Given the description of an element on the screen output the (x, y) to click on. 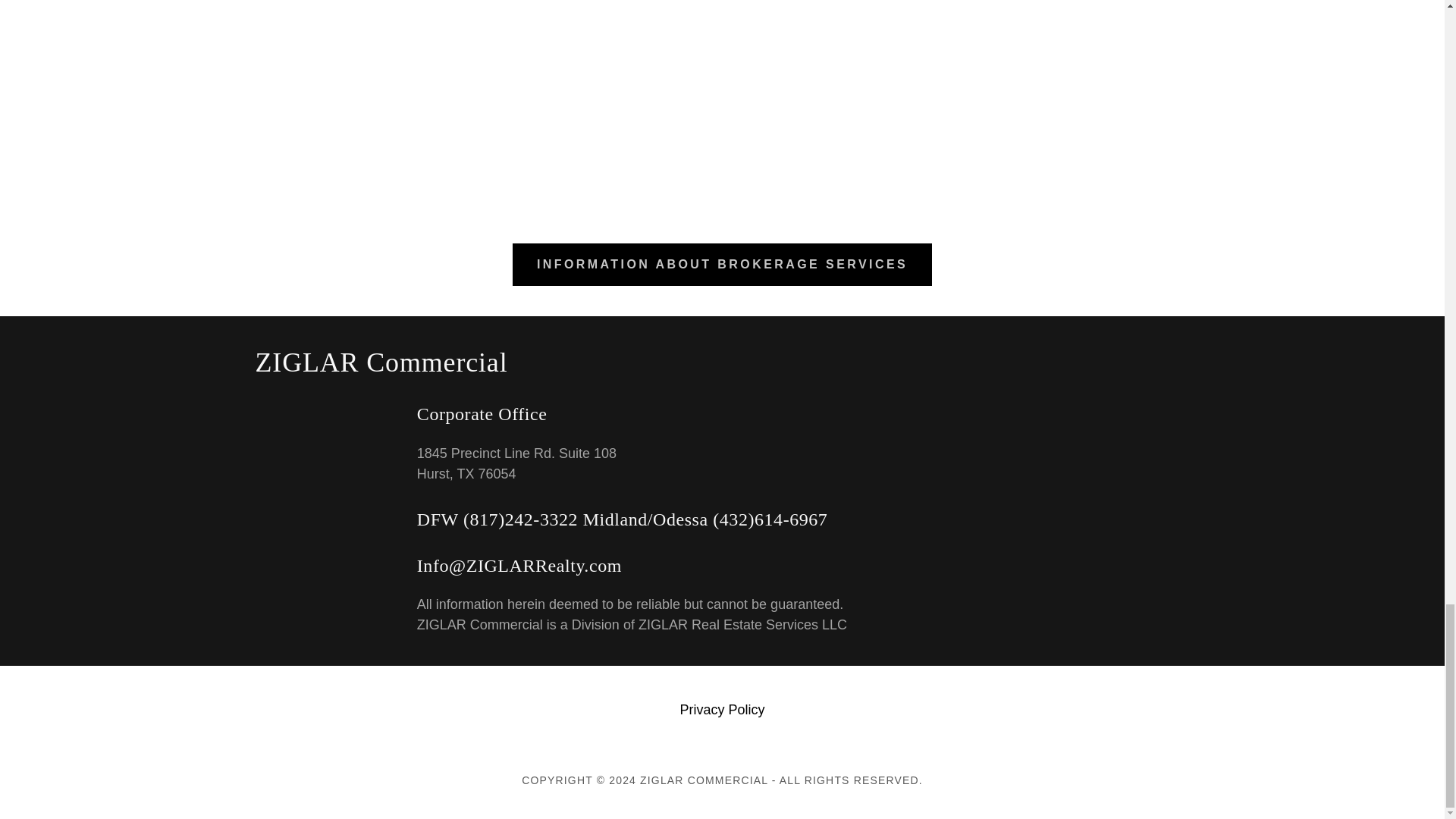
Privacy Policy (721, 709)
INFORMATION ABOUT BROKERAGE SERVICES (721, 264)
